Given the description of an element on the screen output the (x, y) to click on. 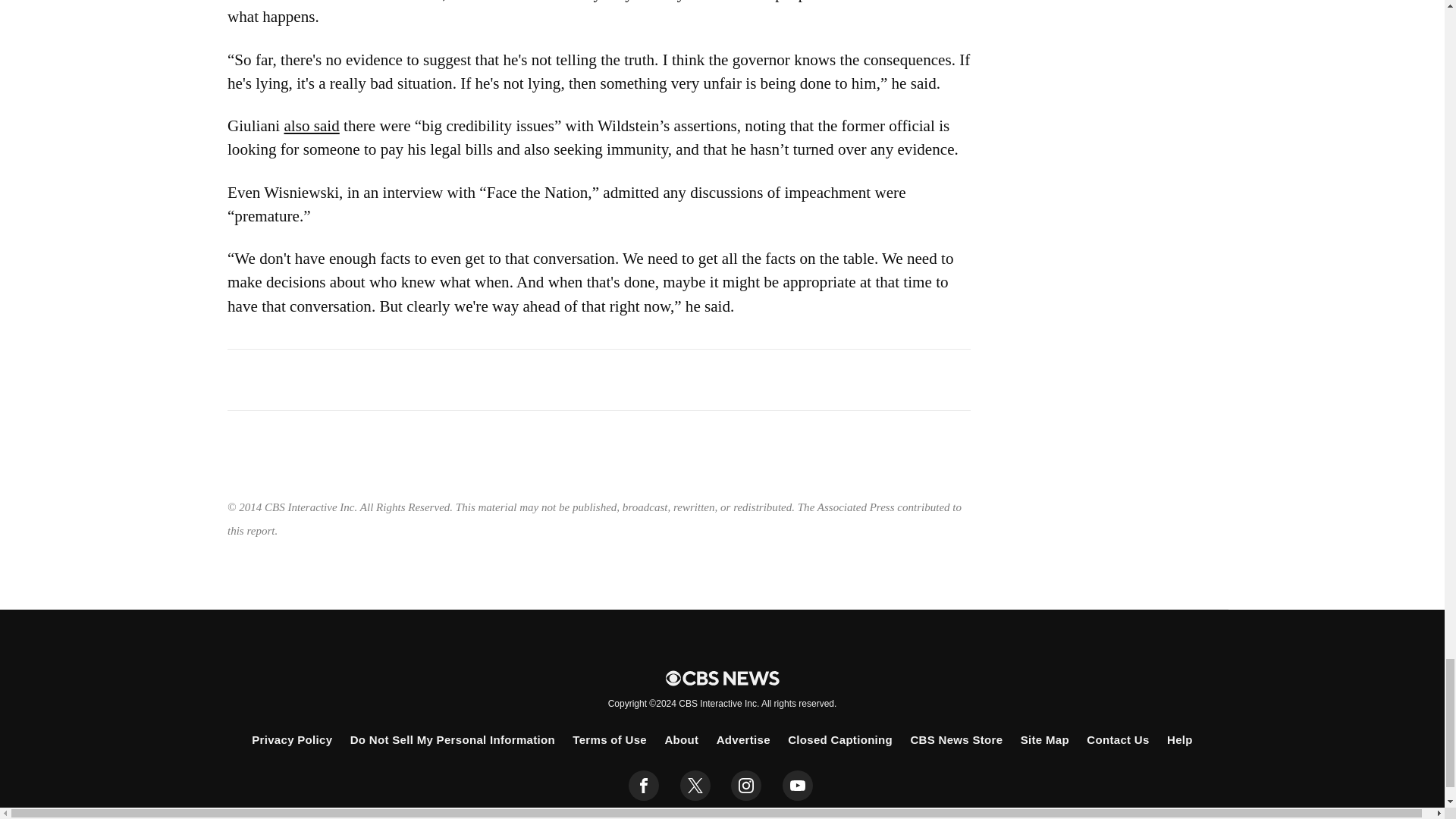
instagram (745, 785)
twitter (694, 785)
facebook (643, 785)
youtube (797, 785)
